Given the description of an element on the screen output the (x, y) to click on. 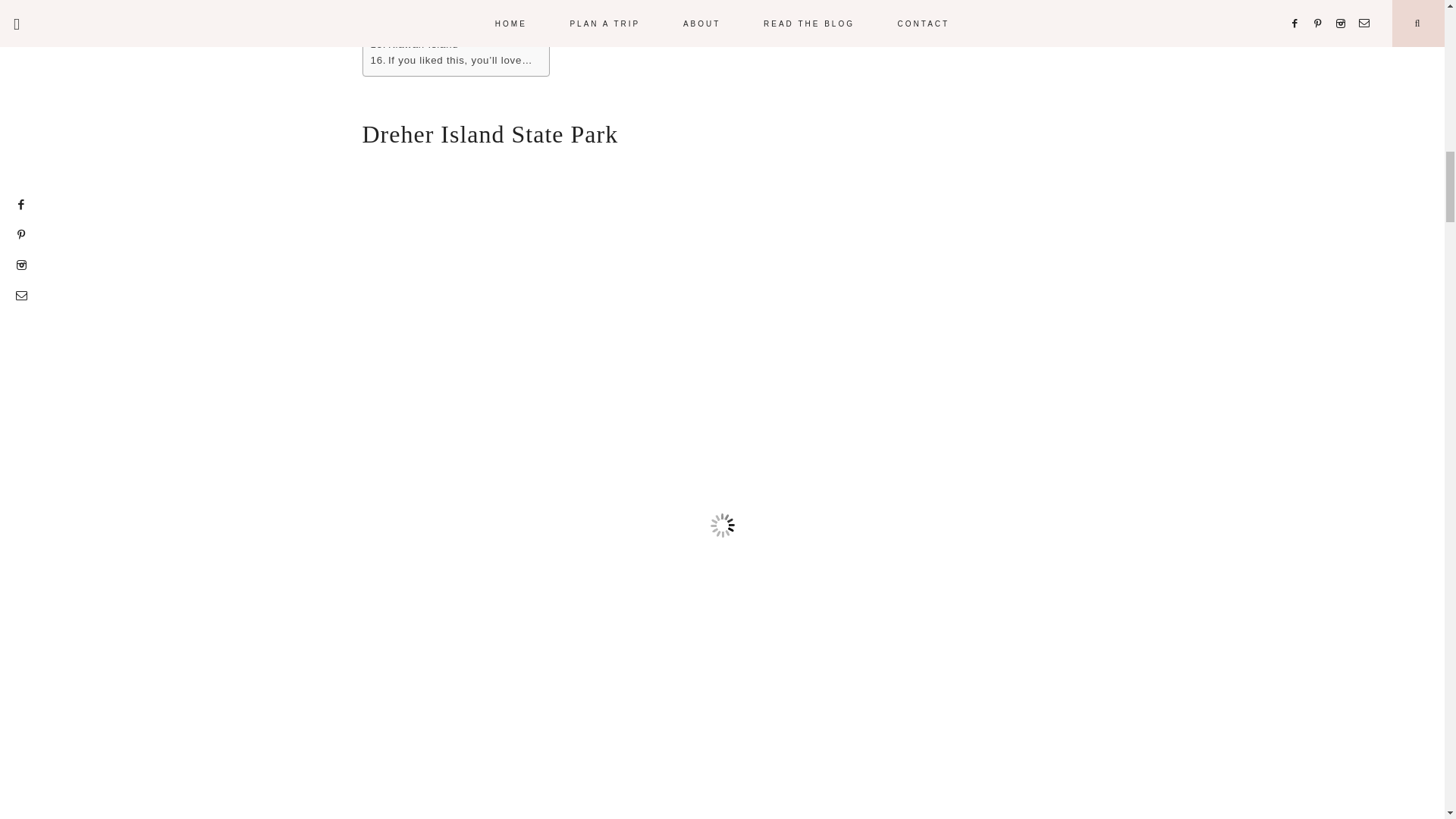
Carowinds (405, 11)
Bluffton, SC (408, 27)
Kiawah Island (413, 44)
